Given the description of an element on the screen output the (x, y) to click on. 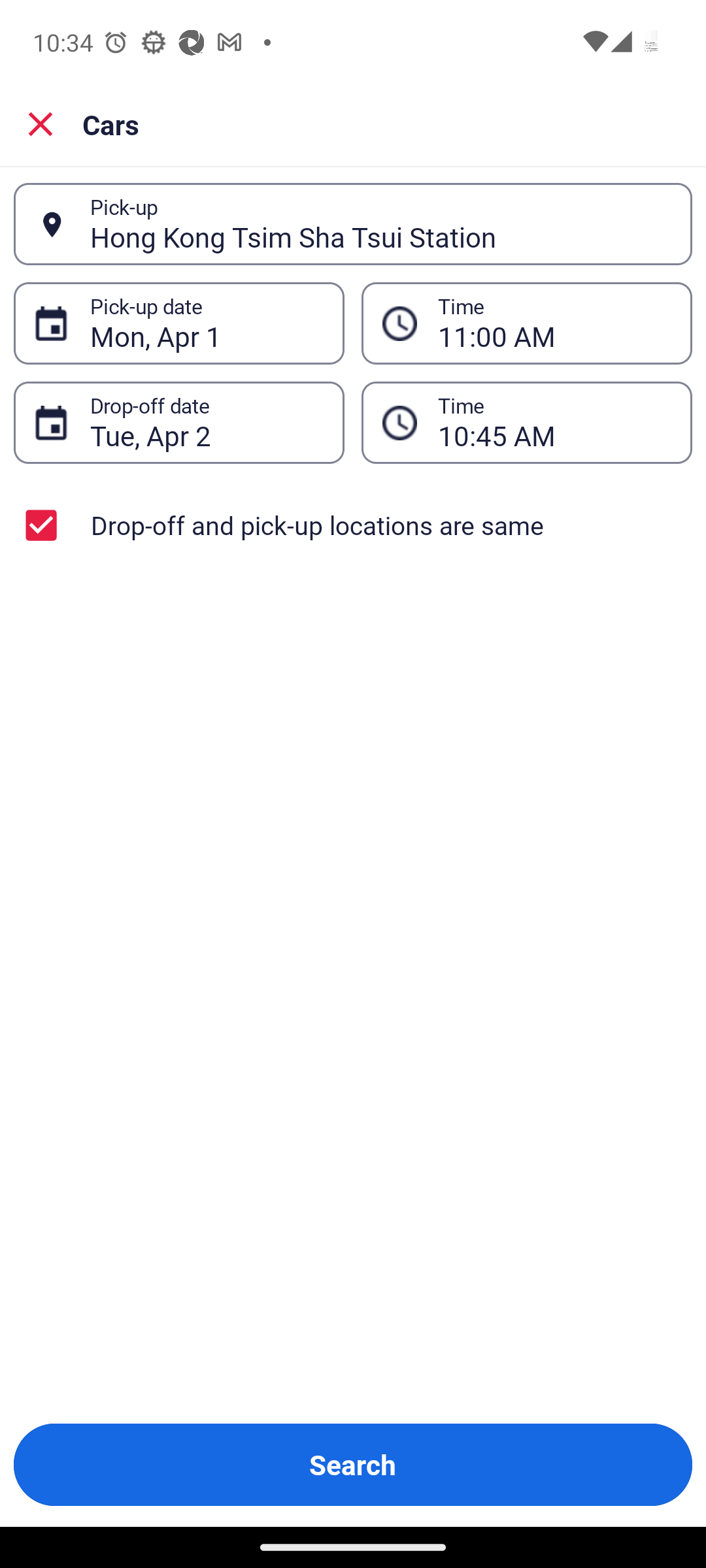
Close search screen (41, 124)
Hong Kong Tsim Sha Tsui Station (380, 223)
Mon, Apr 1 (206, 322)
11:00 AM (554, 322)
Tue, Apr 2 (206, 423)
10:45 AM (554, 423)
Drop-off and pick-up locations are same (352, 525)
Search Button Search (352, 1464)
